Given the description of an element on the screen output the (x, y) to click on. 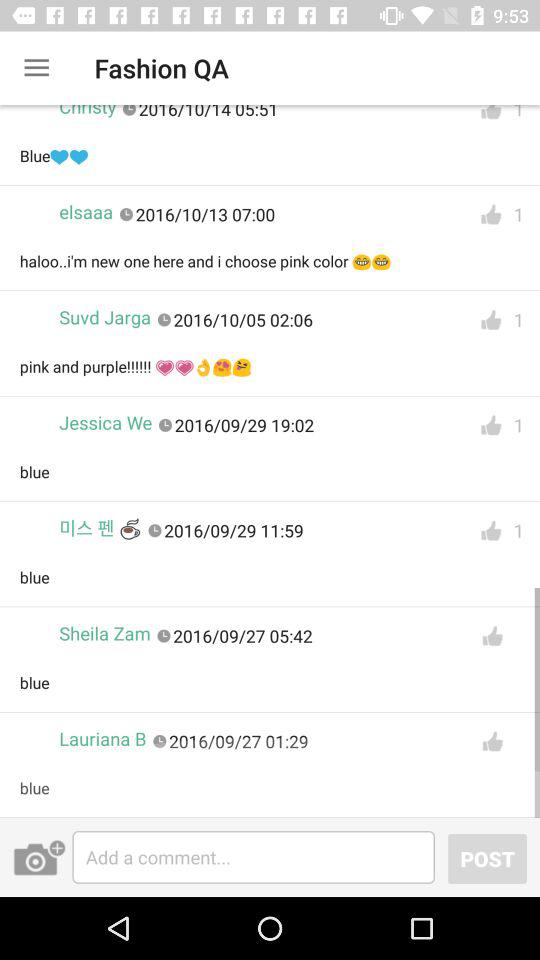
leave a comment (253, 857)
